Given the description of an element on the screen output the (x, y) to click on. 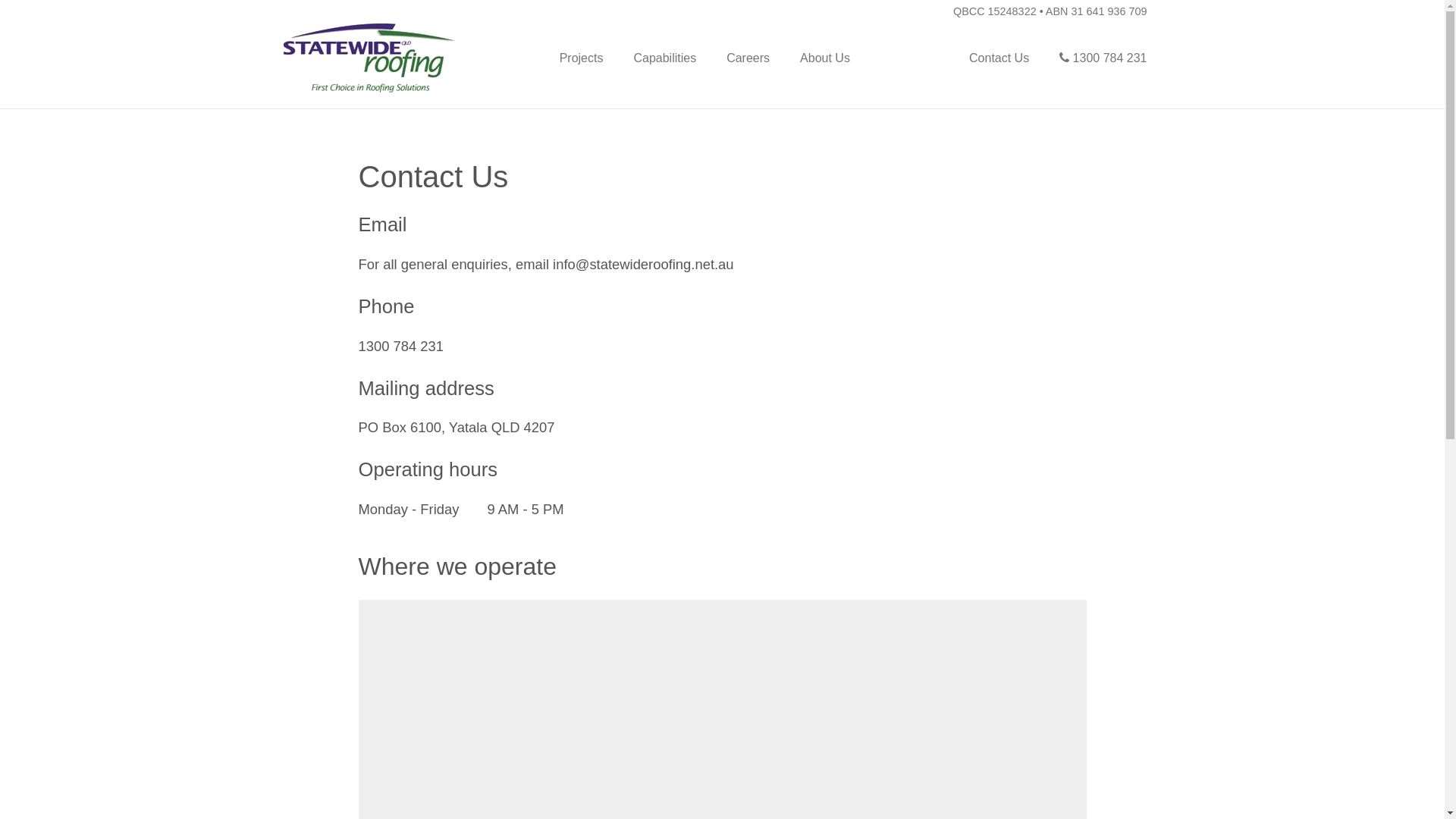
info@statewideroofing.net.au Element type: text (643, 264)
Careers Element type: text (747, 57)
Projects Element type: text (581, 57)
Contact Us Element type: text (998, 57)
Phone 1300 784 231 Element type: text (1102, 57)
1300 784 231 Element type: text (400, 346)
About Us Element type: text (824, 57)
Capabilities Element type: text (664, 57)
